Given the description of an element on the screen output the (x, y) to click on. 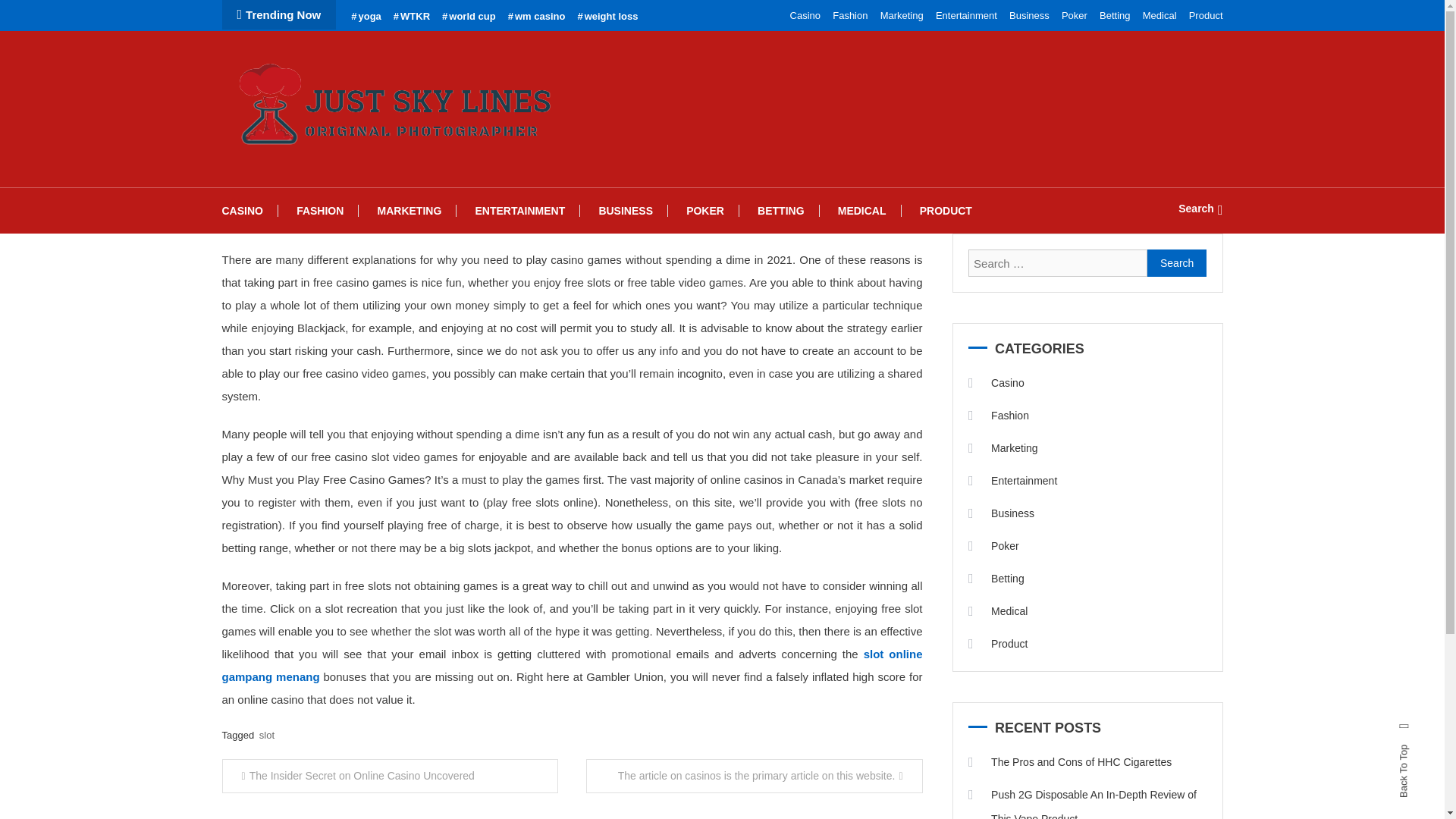
Poker (1074, 15)
ENTERTAINMENT (519, 210)
Search (1177, 262)
Entertainment (966, 15)
WTKR (411, 16)
wm casino (537, 16)
Just Sky Lines (316, 180)
BETTING (780, 210)
Fashion (998, 415)
BUSINESS (625, 210)
